Given the description of an element on the screen output the (x, y) to click on. 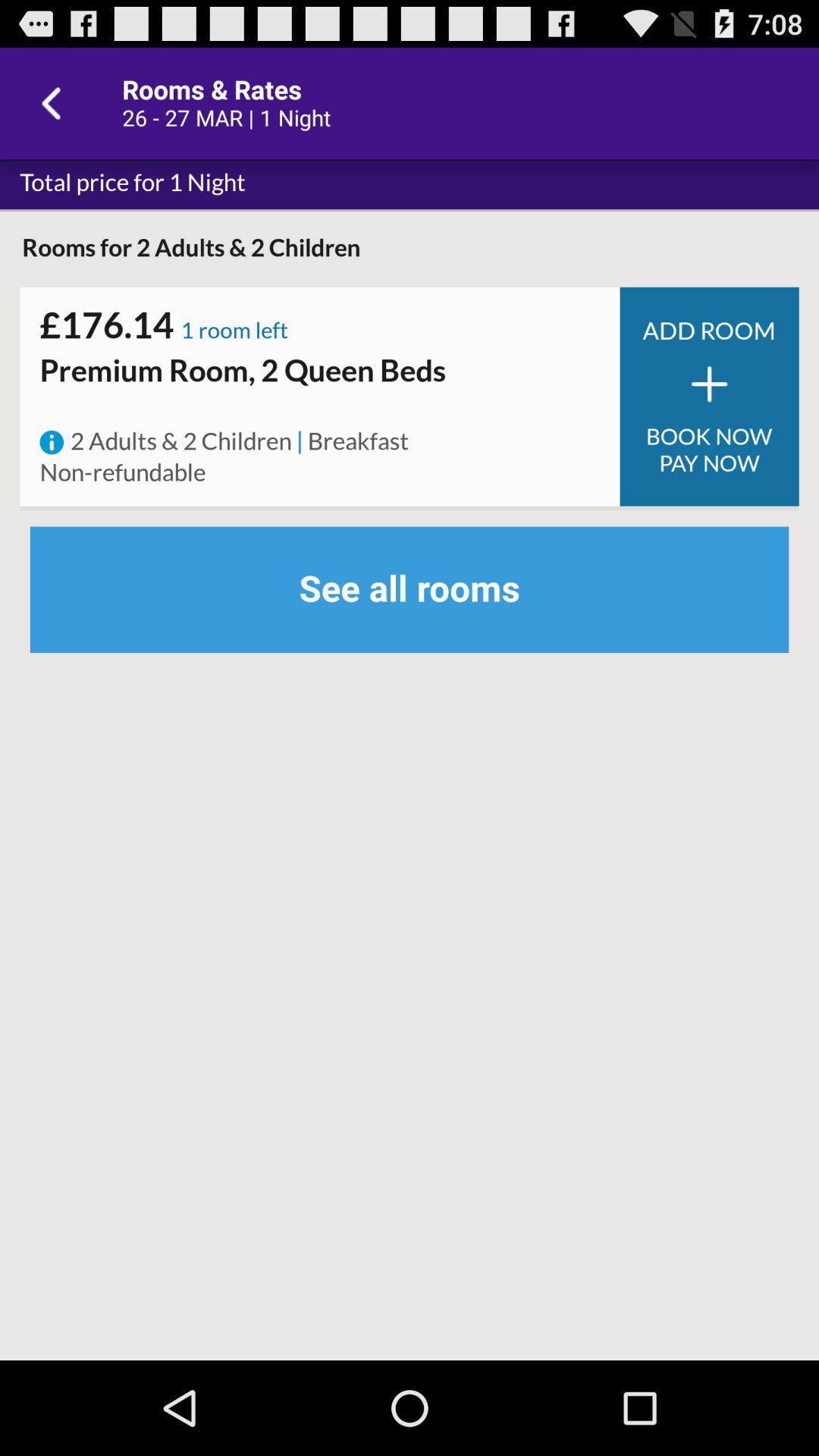
press item below the premium room 2 (319, 407)
